Given the description of an element on the screen output the (x, y) to click on. 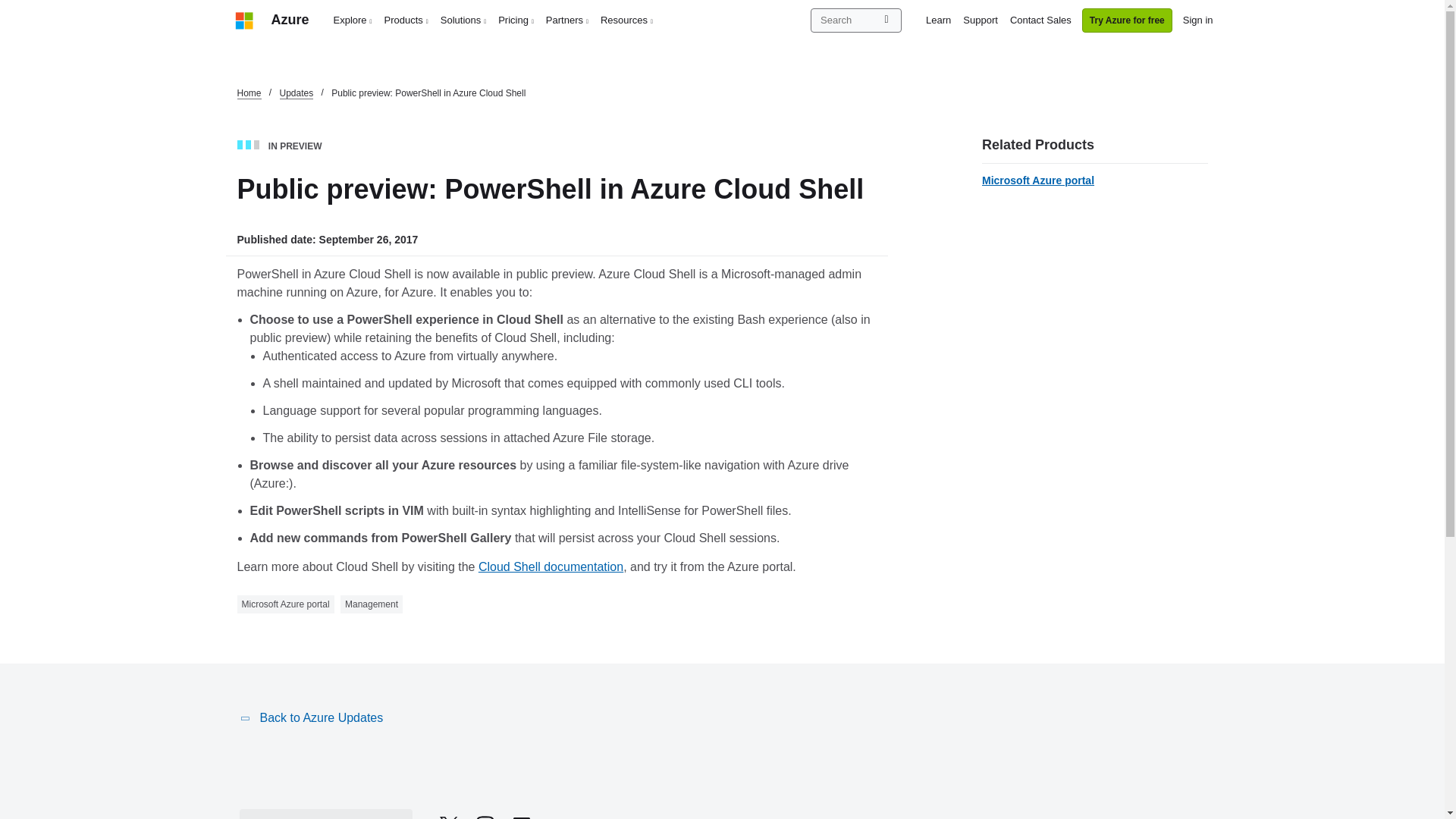
Explore (352, 20)
Products (405, 20)
Azure (289, 19)
Skip to main content (7, 7)
